Given the description of an element on the screen output the (x, y) to click on. 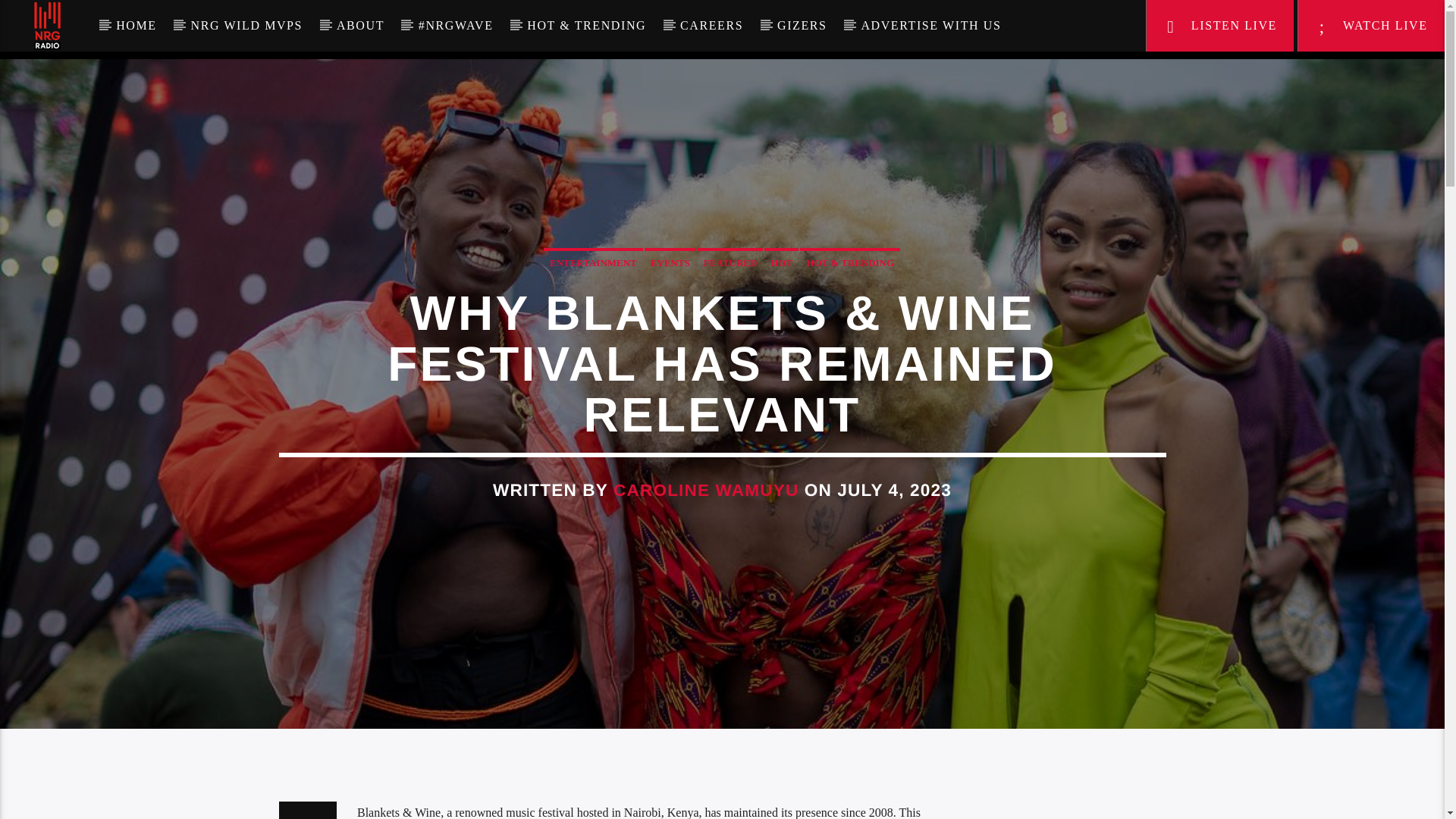
HOME (136, 25)
NRG WILD MVPS (245, 25)
ADVERTISE WITH US (930, 25)
CAREERS (711, 25)
ABOUT (360, 25)
GIZERS (802, 25)
Posts by Caroline Wamuyu (704, 489)
LISTEN LIVE (1220, 25)
